Given the description of an element on the screen output the (x, y) to click on. 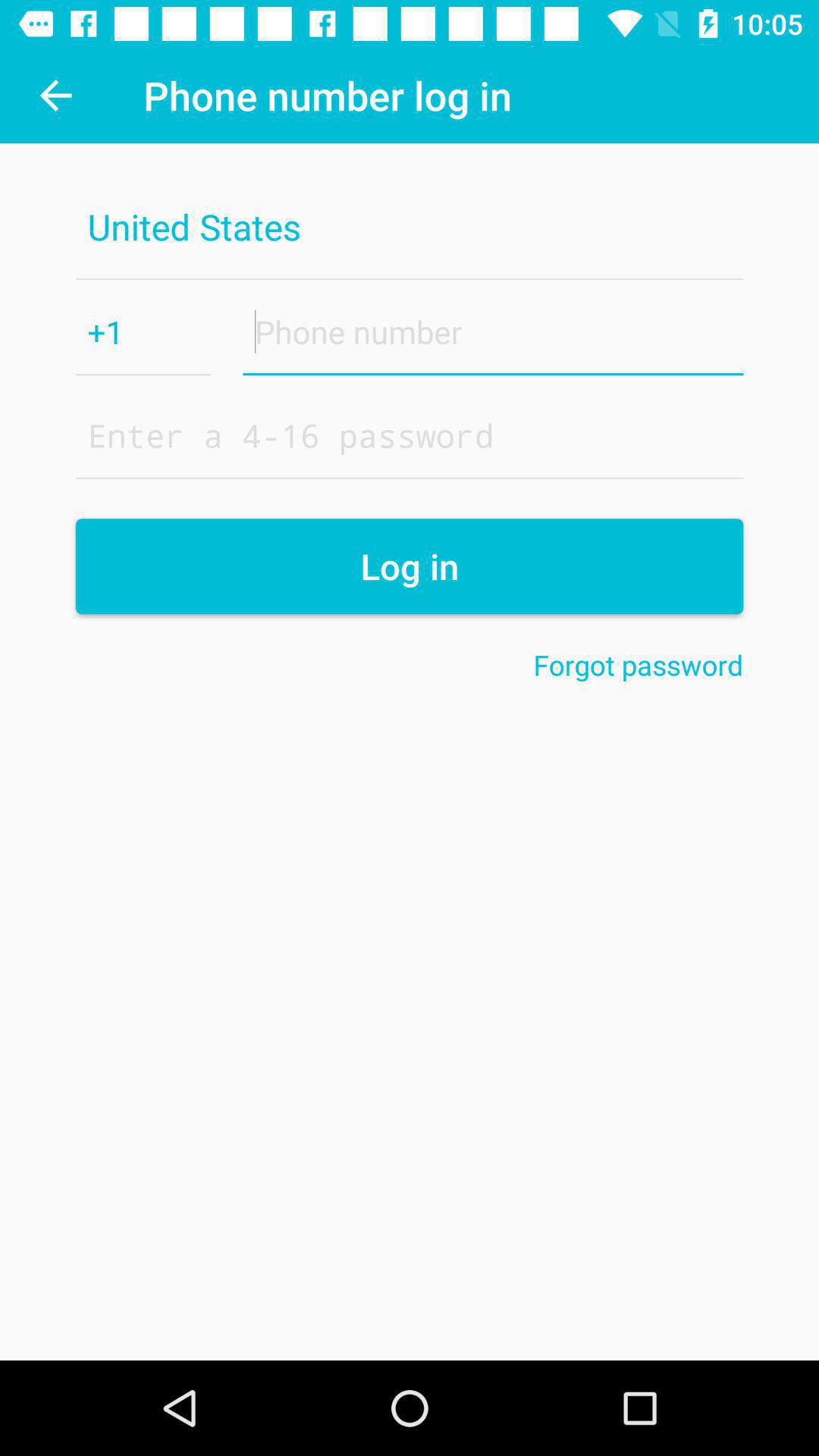
open the item next to +1 (492, 331)
